Given the description of an element on the screen output the (x, y) to click on. 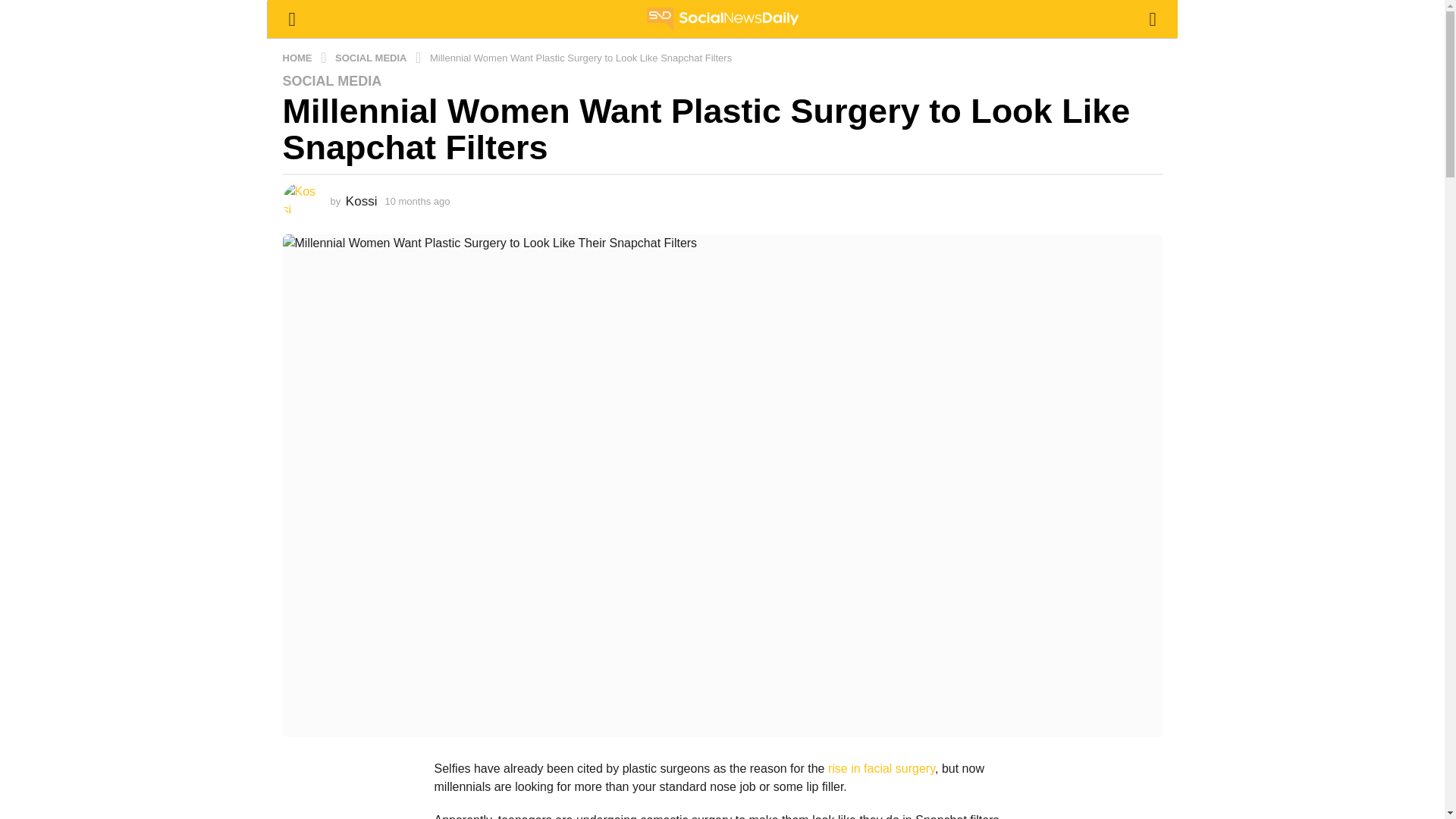
HOME (298, 57)
SOCIAL MEDIA (331, 80)
SOCIAL MEDIA (371, 57)
rise in facial surgery (881, 768)
Kossi (361, 201)
